Given the description of an element on the screen output the (x, y) to click on. 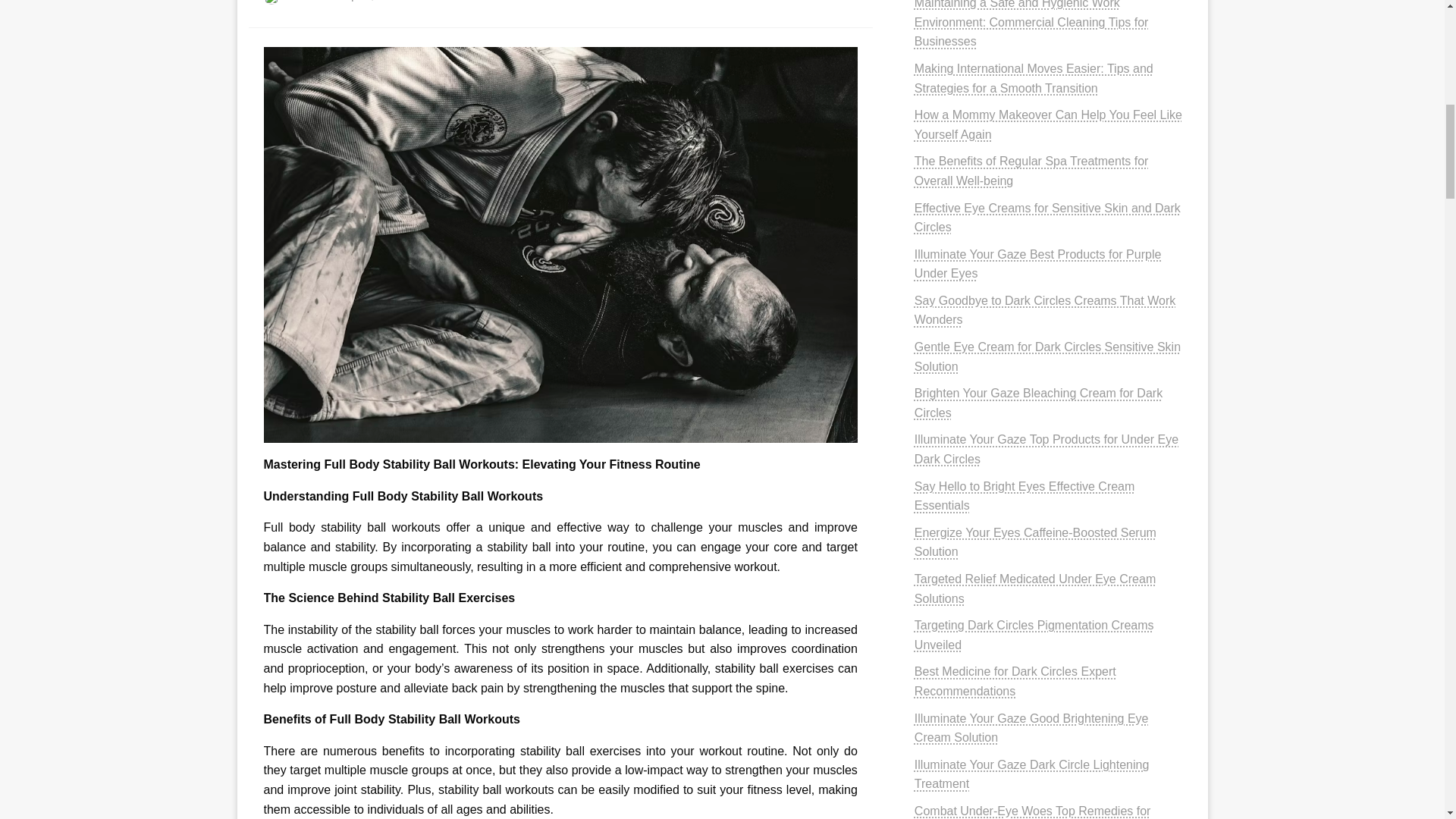
vanalika (307, 0)
vanalika (307, 0)
April 2, 2024 (371, 0)
